Given the description of an element on the screen output the (x, y) to click on. 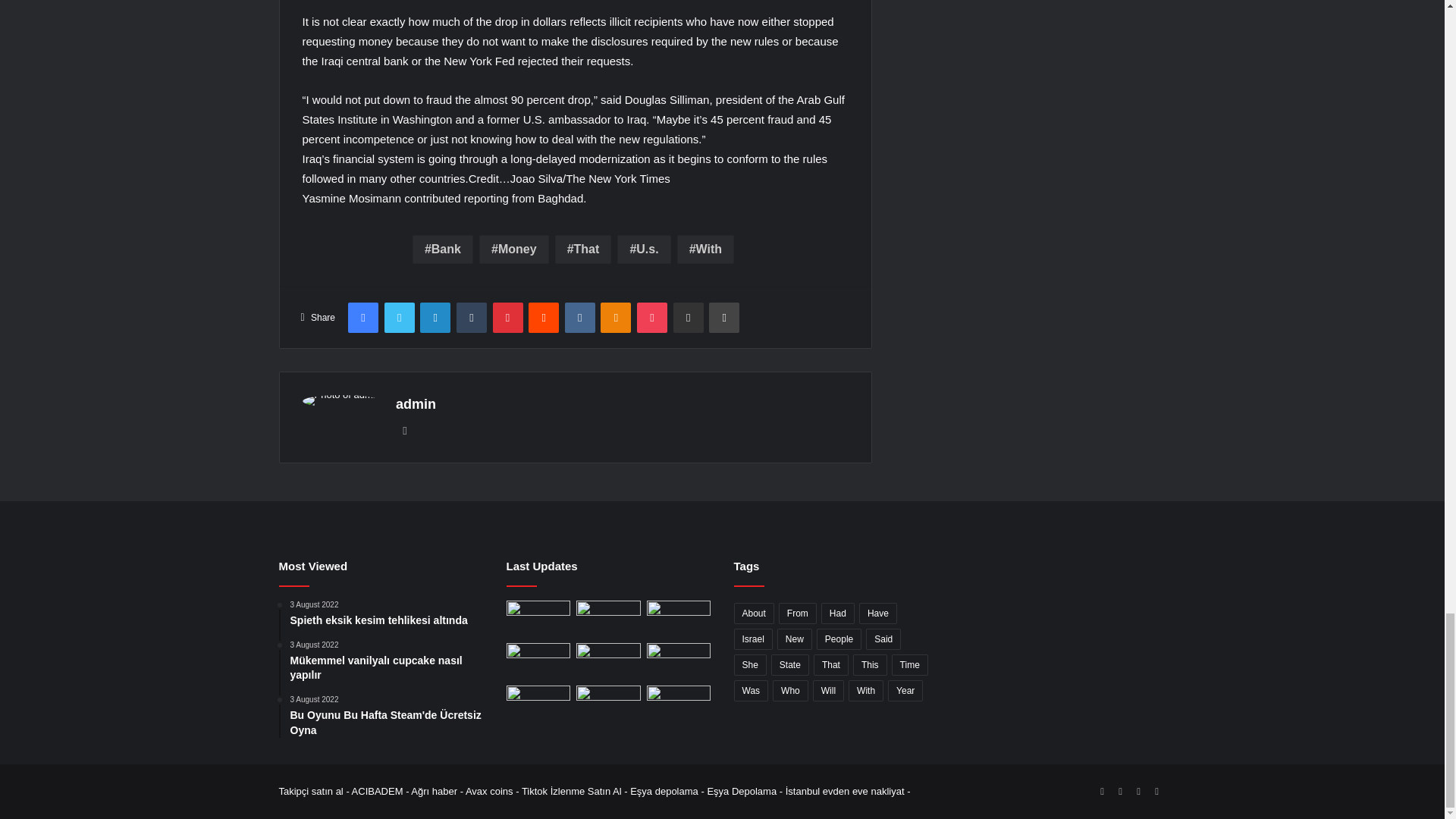
With (705, 249)
Bank (442, 249)
That (582, 249)
U.s. (643, 249)
Money (513, 249)
